Given the description of an element on the screen output the (x, y) to click on. 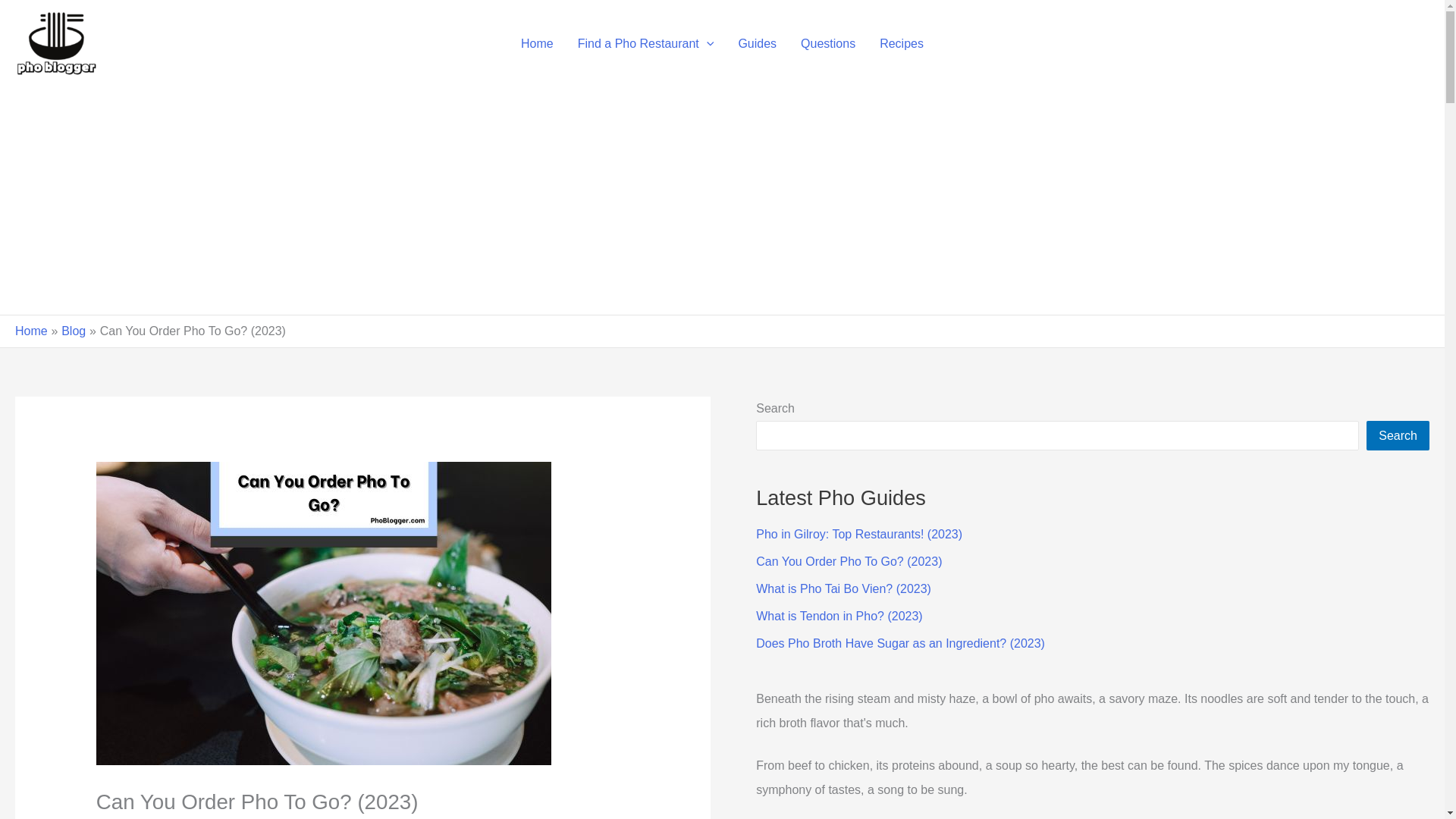
Home (31, 330)
Blog (73, 330)
Guides (757, 43)
Recipes (901, 43)
Questions (828, 43)
Home (537, 43)
Find a Pho Restaurant (646, 43)
